Given the description of an element on the screen output the (x, y) to click on. 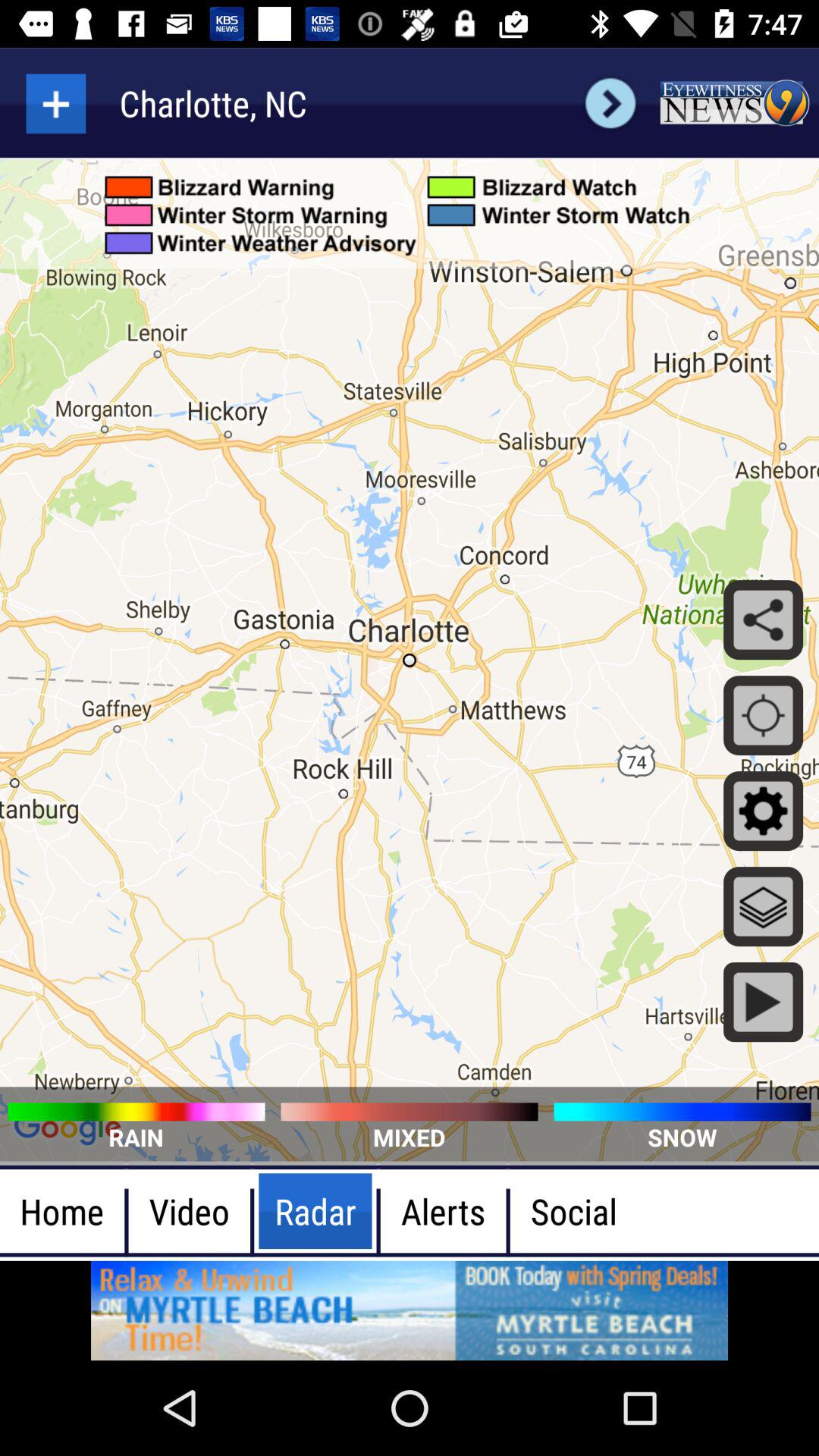
go to next (610, 103)
